Given the description of an element on the screen output the (x, y) to click on. 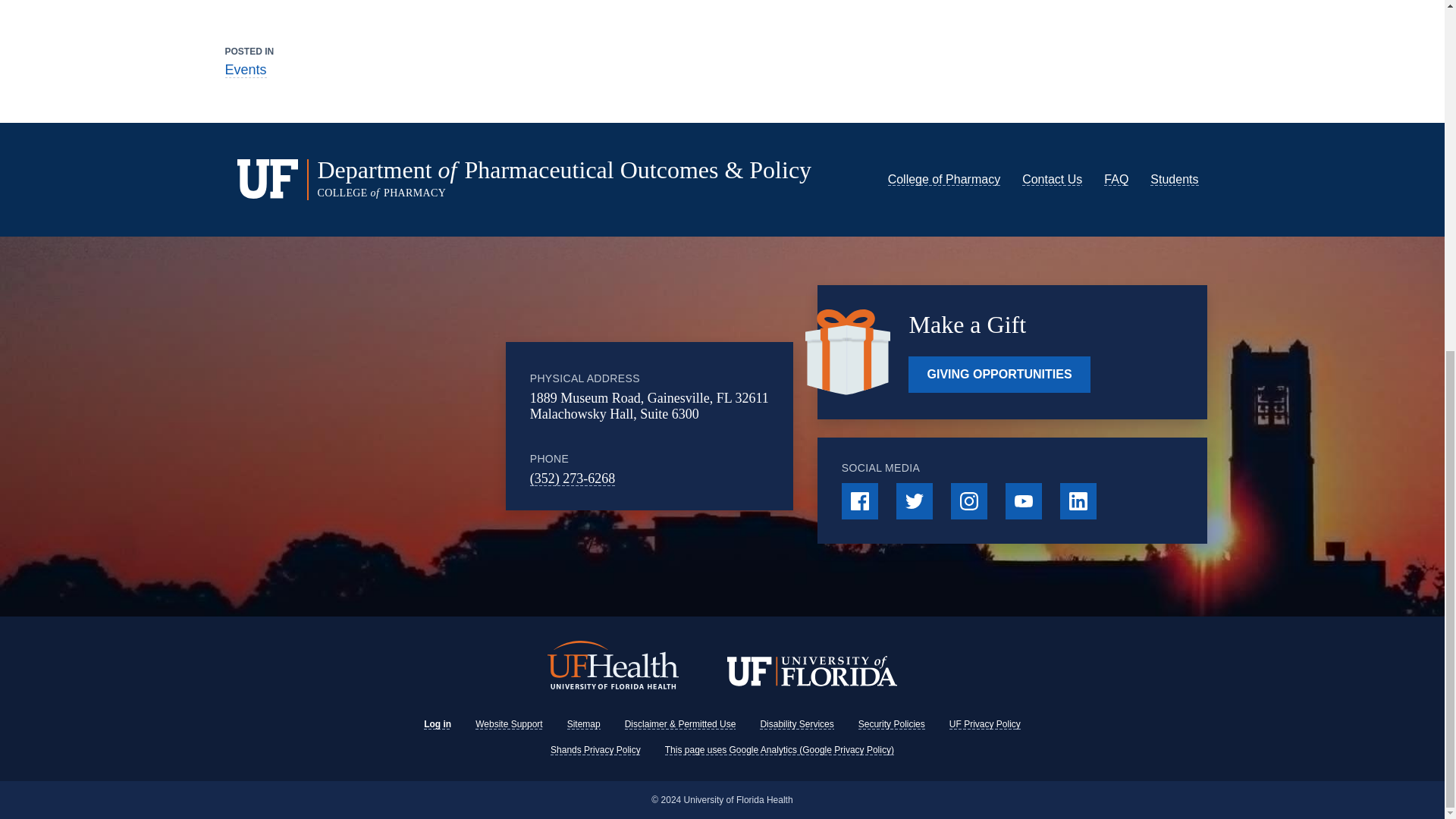
Disability Services (796, 724)
Shands Privacy Policy (595, 749)
Website Support (509, 724)
UF Privacy Policy (984, 724)
Contact Us (1051, 178)
Sitemap (583, 724)
FAQ (1115, 178)
Google Maps Embed (418, 425)
Students (1174, 178)
Security Policies (891, 724)
College of Pharmacy (944, 178)
Log in (437, 724)
